Given the description of an element on the screen output the (x, y) to click on. 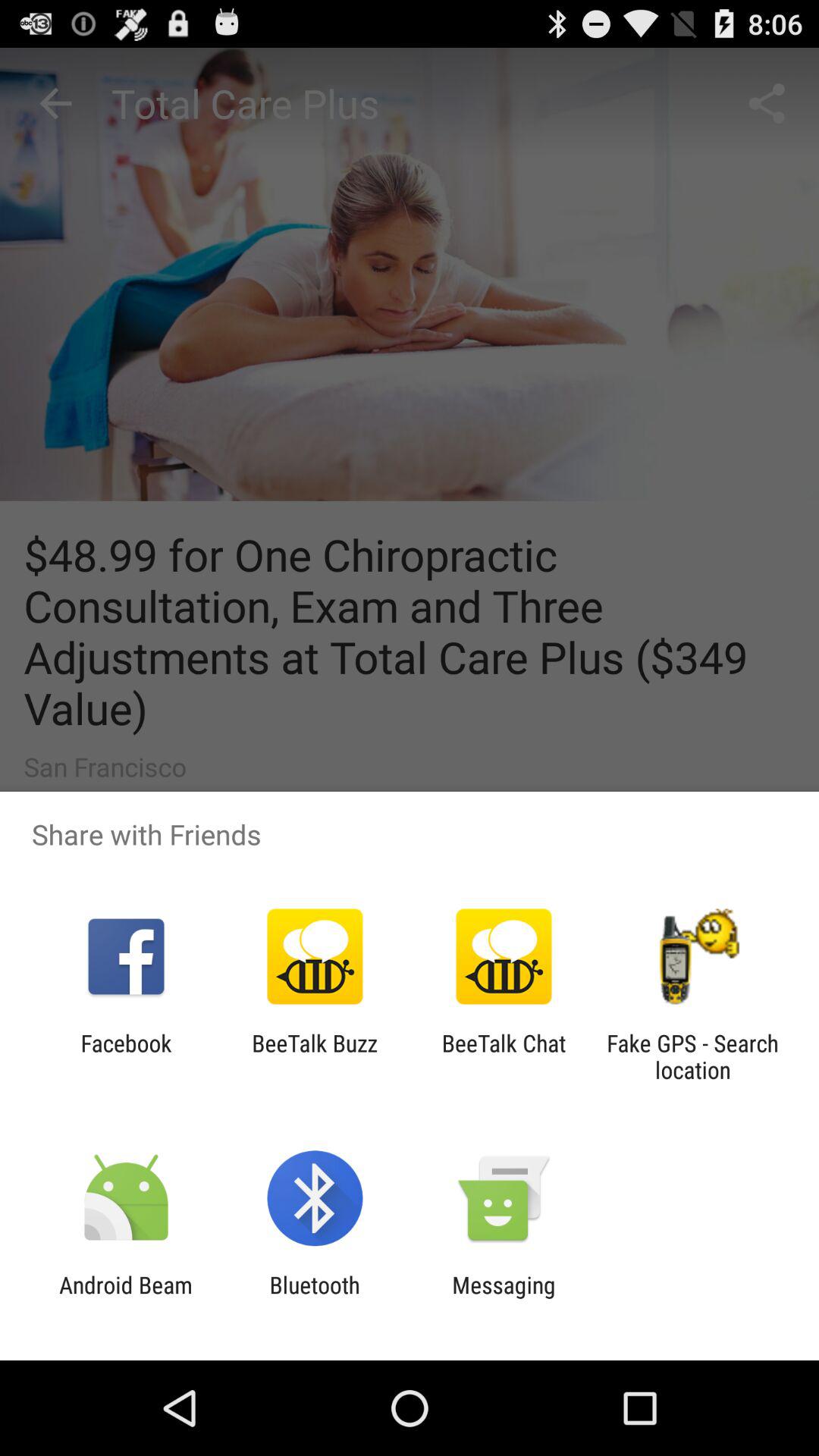
choose app next to bluetooth (503, 1298)
